Given the description of an element on the screen output the (x, y) to click on. 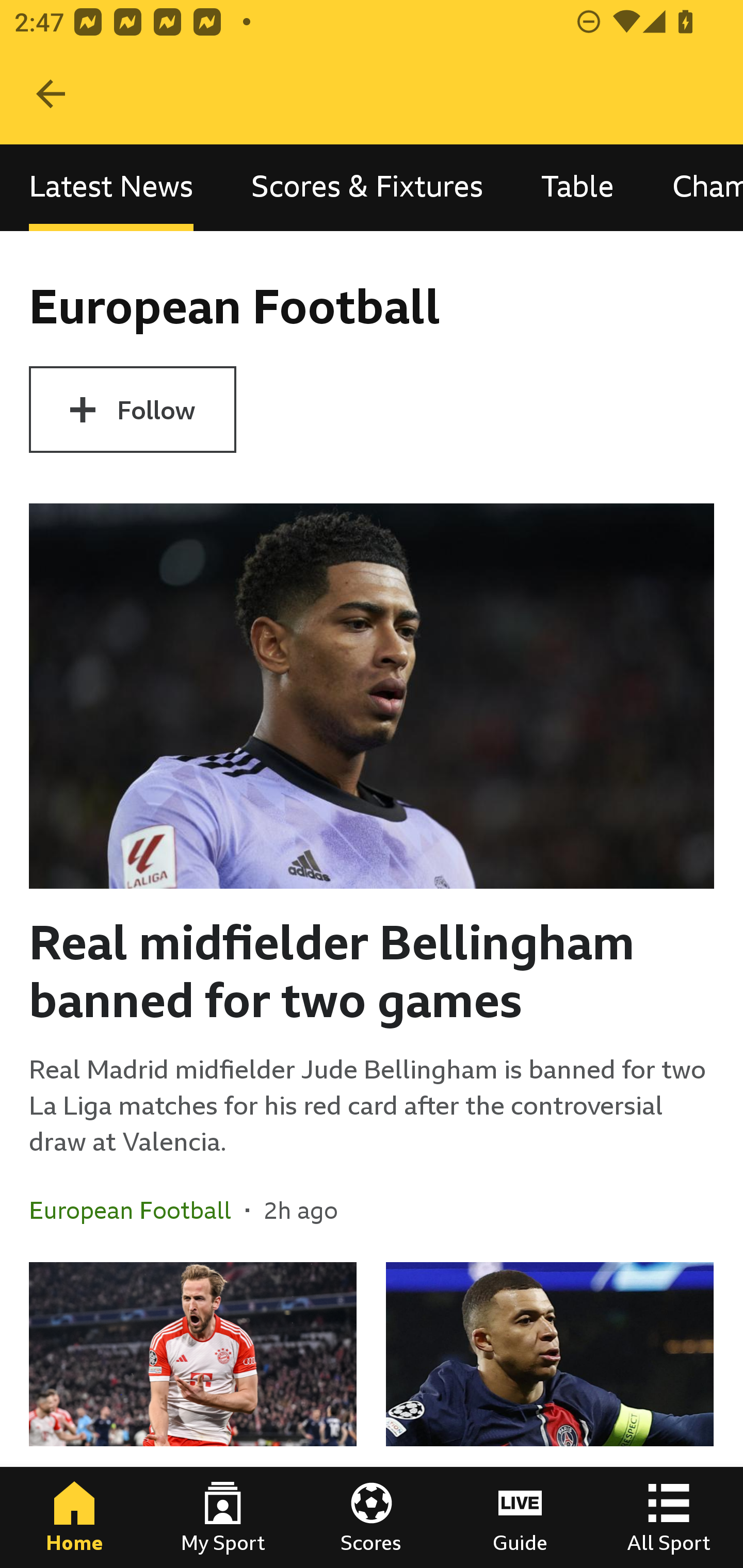
Navigate up (50, 93)
Latest News, selected Latest News (111, 187)
Scores & Fixtures (367, 187)
Table (577, 187)
Follow European Football Follow (132, 409)
Kane scores two as stylish Bayern beat Lazio (192, 1415)
Mbappe has 'no problems' with manager Enrique (549, 1415)
My Sport (222, 1517)
Scores (371, 1517)
Guide (519, 1517)
All Sport (668, 1517)
